Given the description of an element on the screen output the (x, y) to click on. 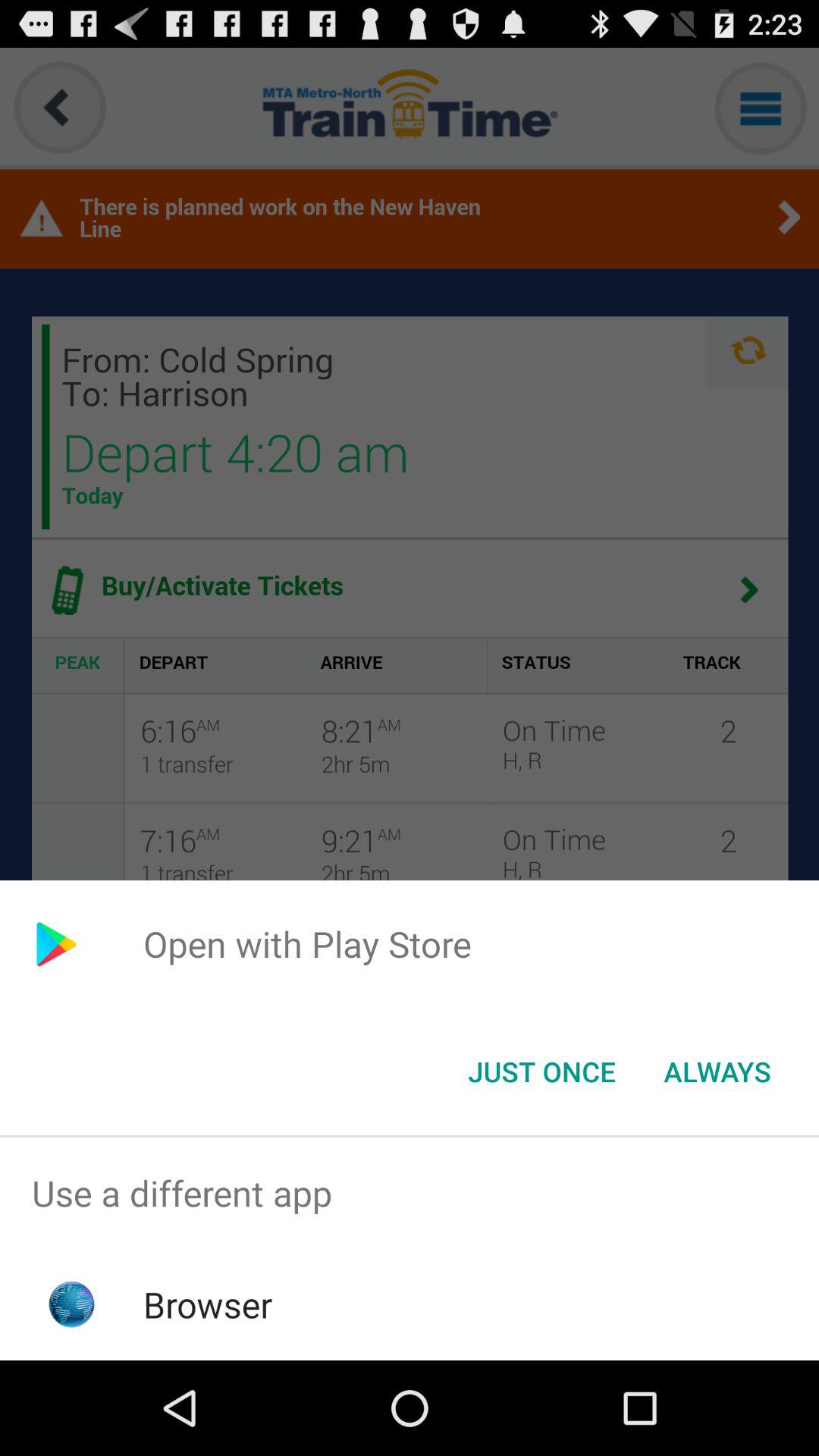
jump until browser app (207, 1304)
